Given the description of an element on the screen output the (x, y) to click on. 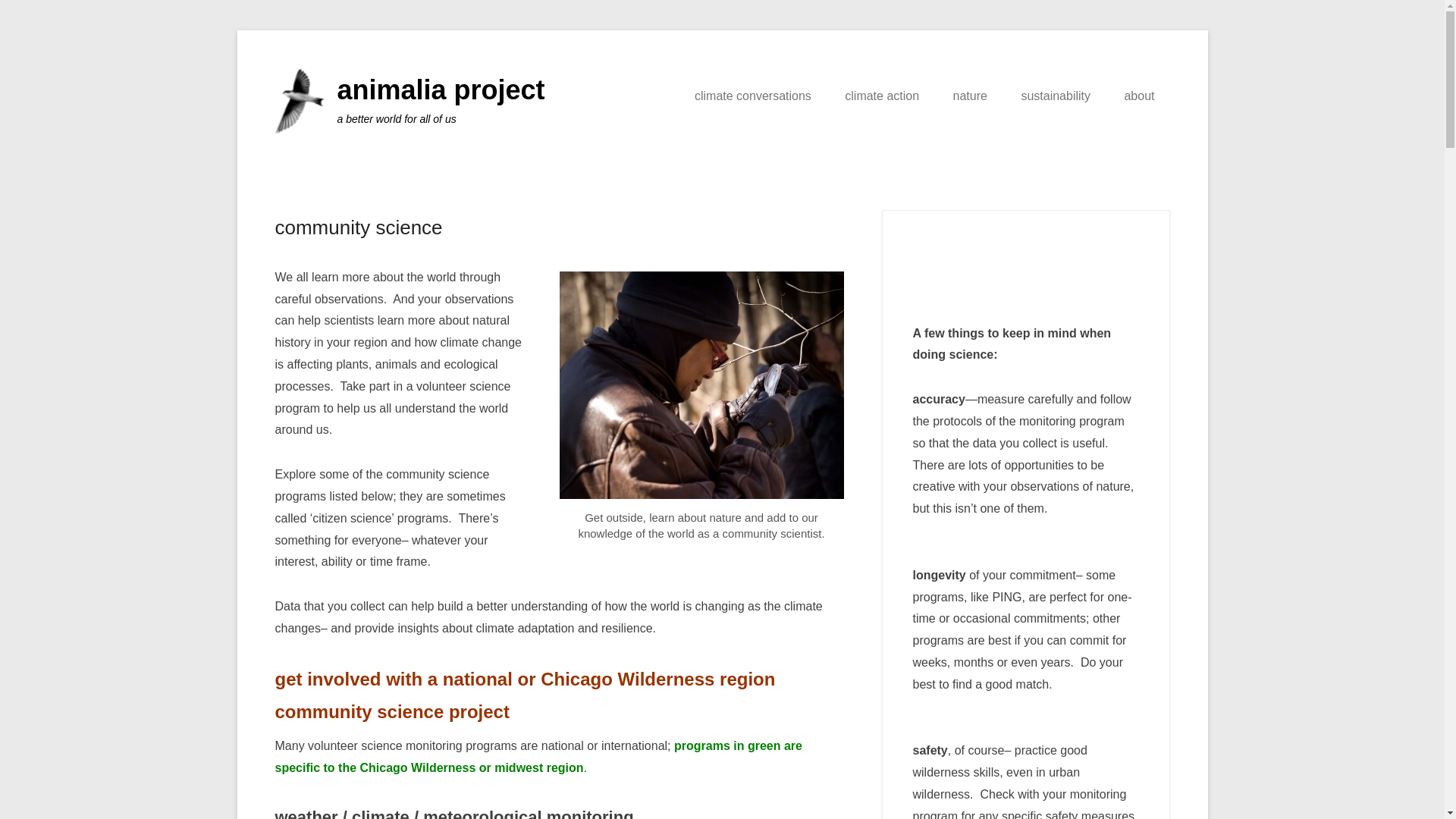
animalia project (440, 89)
animalia project (440, 89)
about (1138, 96)
climate action (881, 96)
sustainability (1055, 96)
community science (358, 227)
Permalink to community science (358, 227)
climate conversations (753, 96)
nature (970, 96)
